Given the description of an element on the screen output the (x, y) to click on. 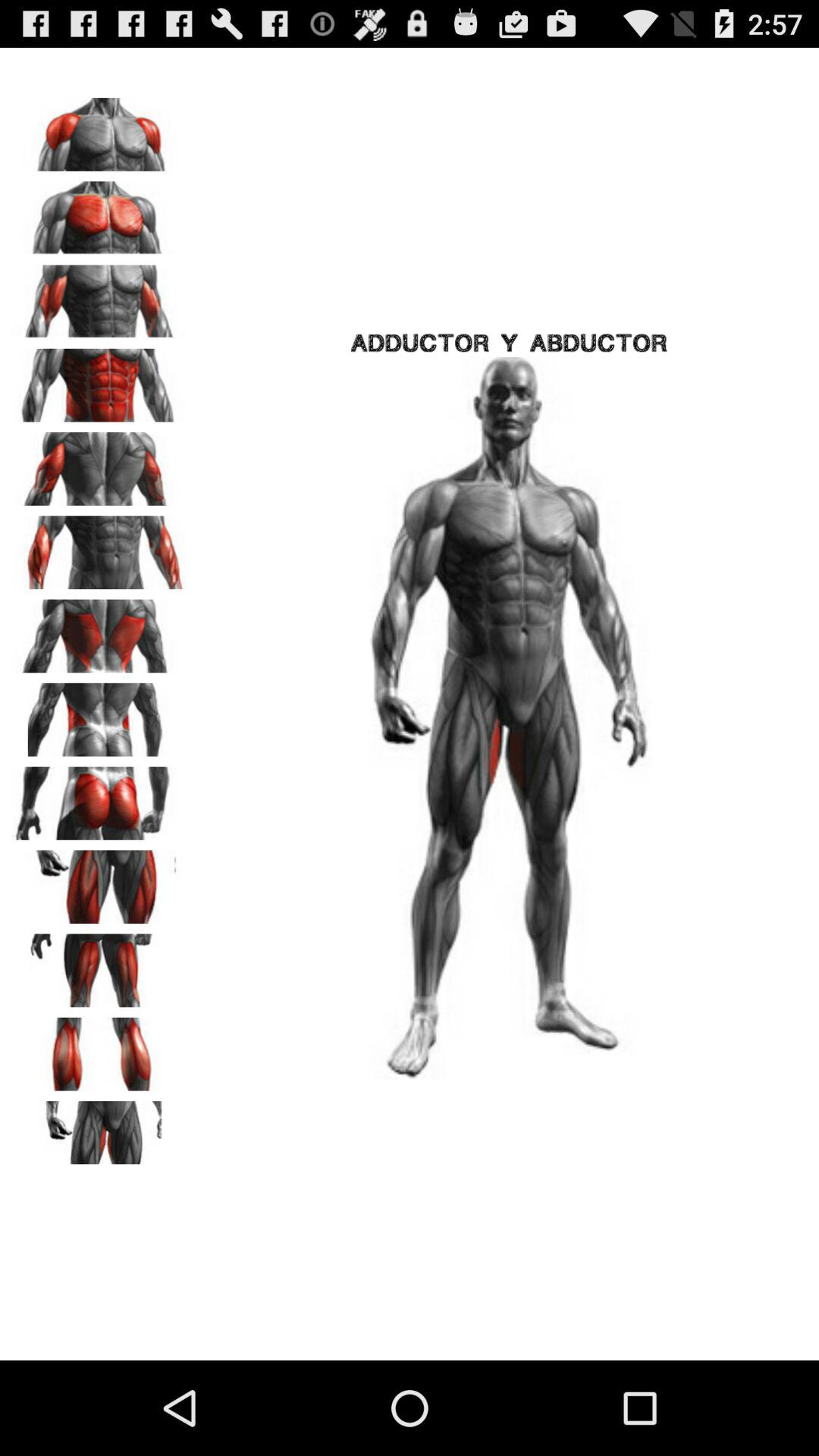
view selected body part (99, 1048)
